Given the description of an element on the screen output the (x, y) to click on. 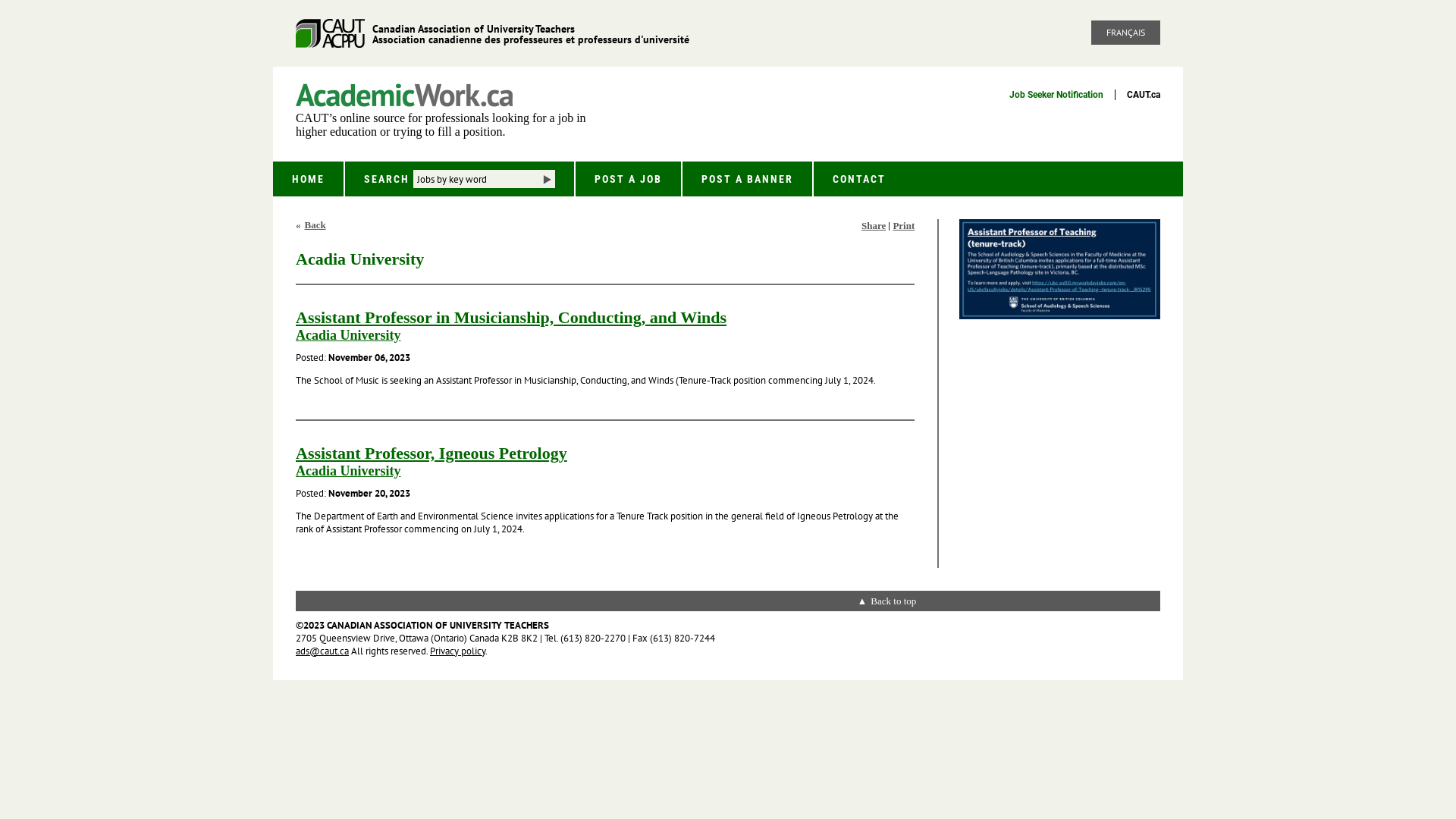
CAUT.ca Element type: text (1143, 94)
POST A BANNER Element type: text (747, 178)
Job Seeker Notification Element type: text (1056, 94)
Assistant Professor in Musicianship, Conducting, and Winds Element type: text (510, 316)
CONTACT Element type: text (858, 178)
Acadia University Element type: text (348, 469)
search Element type: text (545, 178)
Back to top Element type: text (886, 599)
POST A JOB Element type: text (627, 178)
Privacy policy Element type: text (457, 650)
Print Element type: text (903, 225)
Share Element type: text (873, 225)
HOME Element type: text (308, 178)
Back Element type: text (310, 225)
Acadia University Element type: text (348, 334)
ads@caut.ca Element type: text (321, 650)
Assistant Professor, Igneous Petrology Element type: text (431, 451)
